Given the description of an element on the screen output the (x, y) to click on. 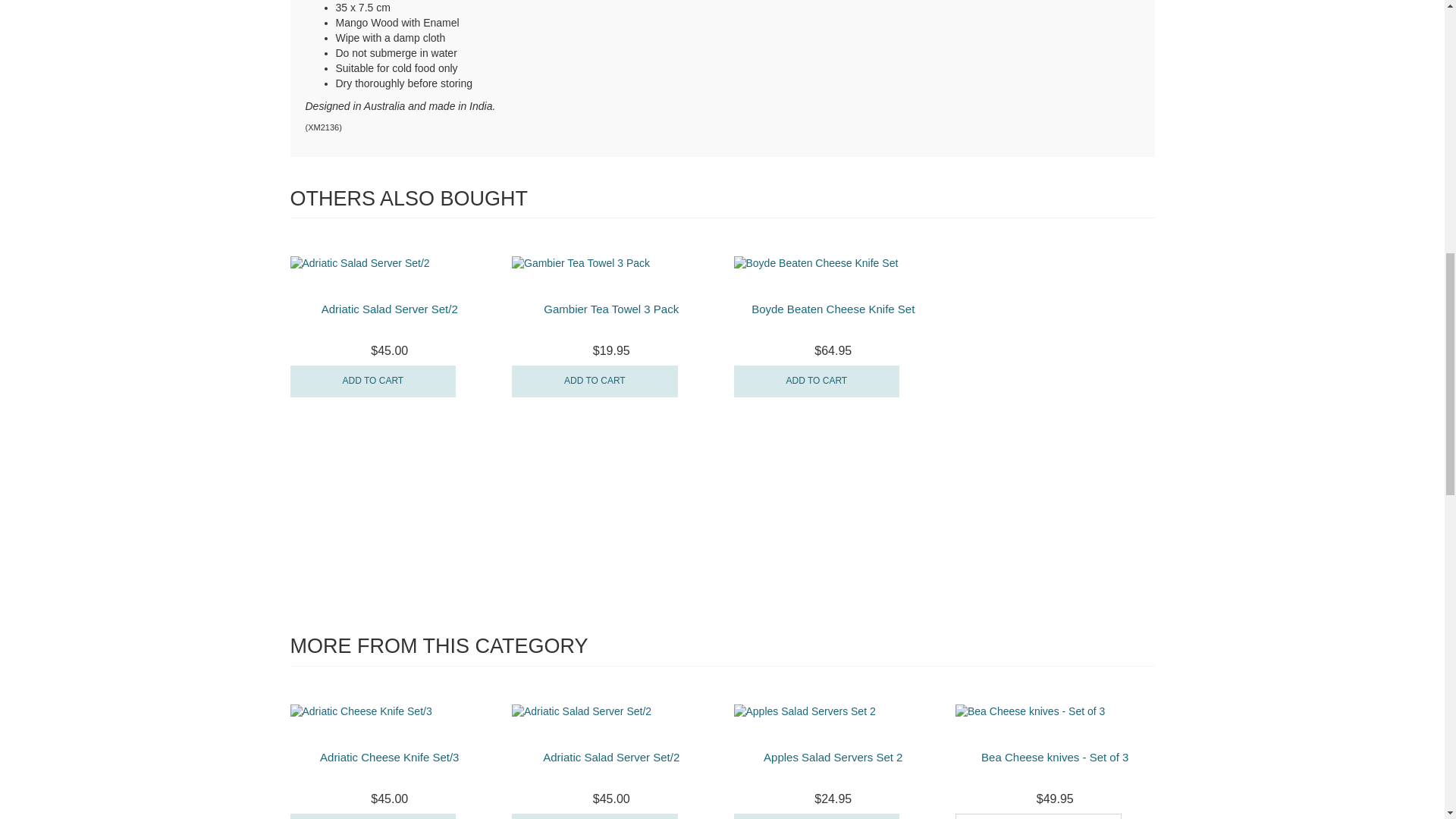
Add to Cart (816, 816)
Add to Cart (595, 381)
Add to Cart (372, 381)
Boyde Beaten Cheese Knife Set (832, 308)
Gambier Tea Towel 3 Pack (610, 308)
Add to Cart (372, 816)
Bea Cheese knives - Set of 3 (1054, 757)
Notify Me When Back In Stock (1038, 816)
Add to Cart (595, 816)
Apples Salad Servers Set 2 (832, 757)
Add to Cart (816, 381)
